Given the description of an element on the screen output the (x, y) to click on. 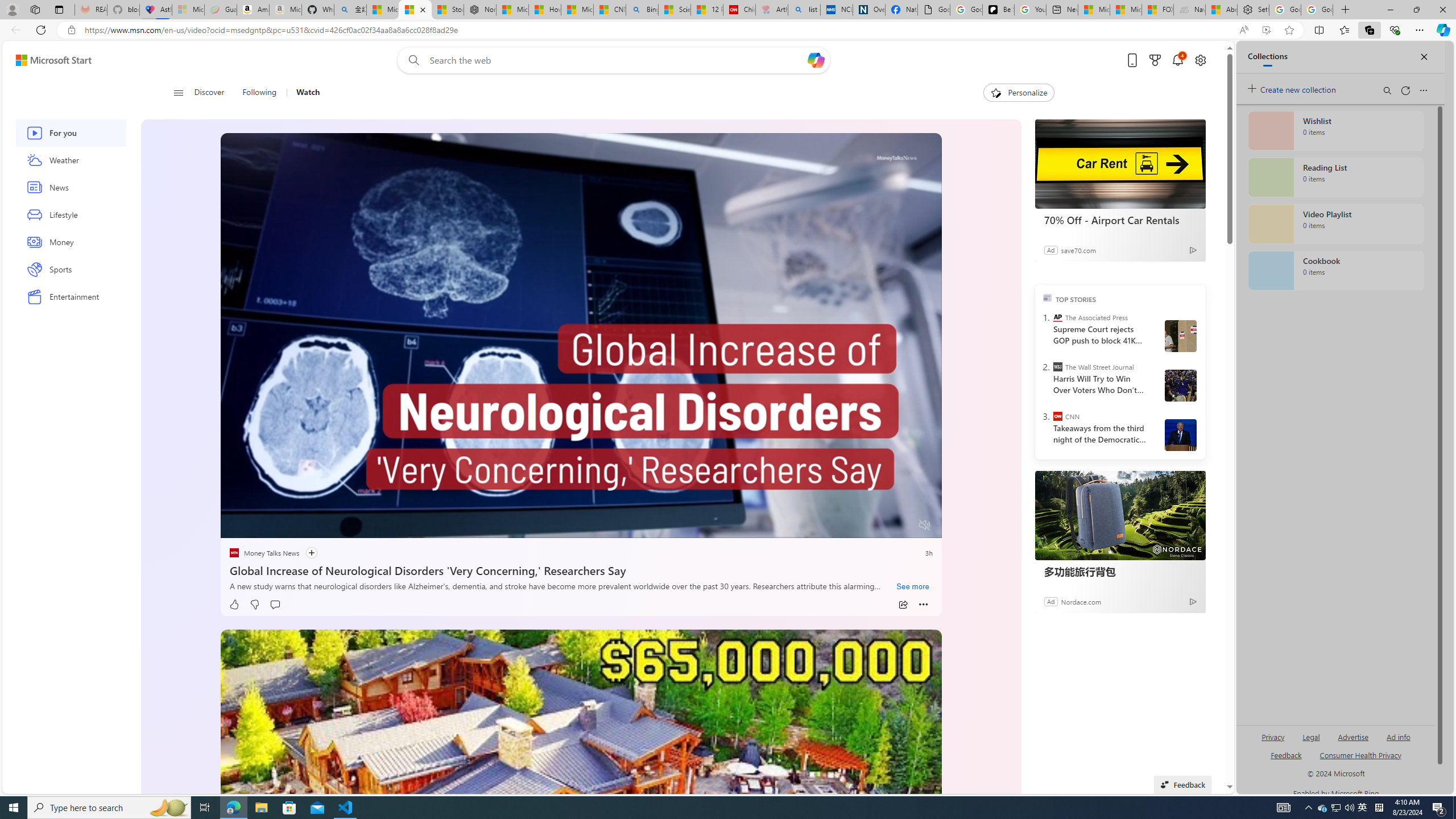
70% Off - Airport Car Rentals (1119, 219)
Pause (236, 525)
Seek Back (260, 525)
Seek Forward (283, 525)
Fullscreen (902, 525)
